Given the description of an element on the screen output the (x, y) to click on. 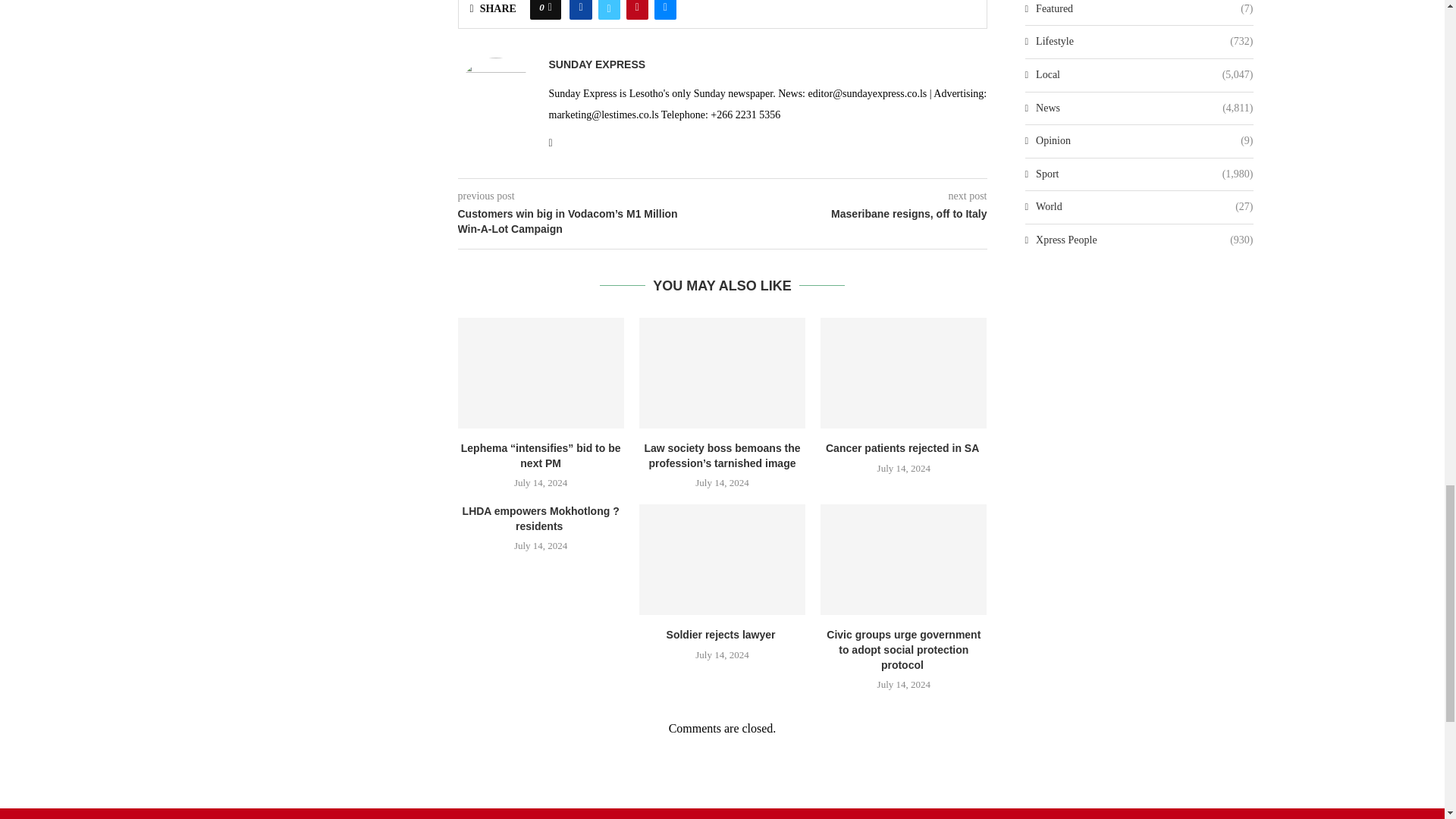
Author Sunday Express (597, 64)
